Given the description of an element on the screen output the (x, y) to click on. 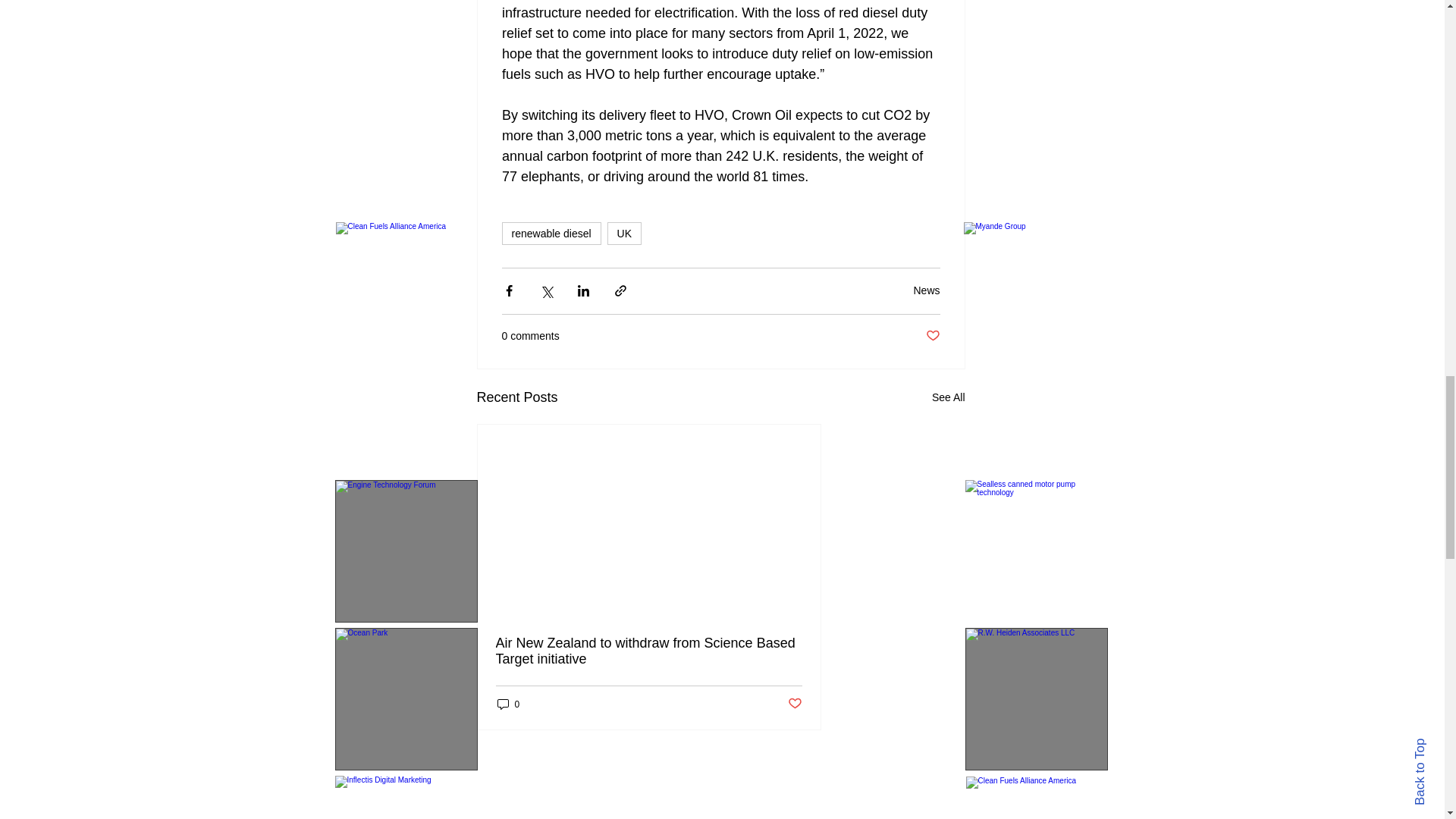
Post not marked as liked (931, 335)
Inflectis Digital Marketing  (405, 797)
renewable diesel (551, 232)
UK (624, 232)
See All (948, 397)
Clean Fuels Alliance America (1037, 797)
0 (508, 703)
Post not marked as liked (794, 703)
News (925, 290)
Engine Technology Forum (405, 550)
